Given the description of an element on the screen output the (x, y) to click on. 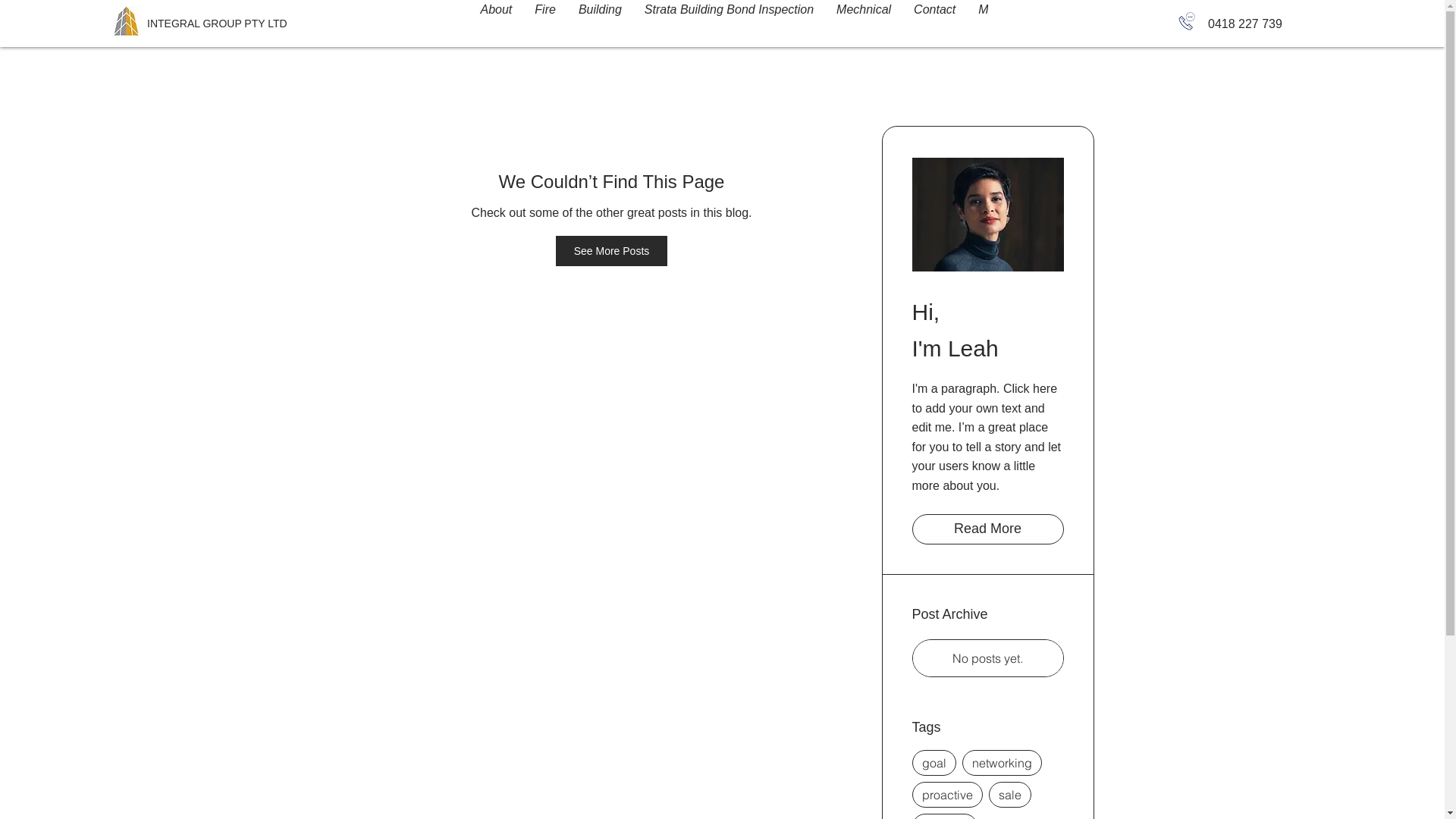
INTEGRAL GROUP PTY LTD Element type: text (217, 23)
Building Element type: text (600, 20)
sale Element type: text (1009, 794)
proactive Element type: text (946, 794)
networking Element type: text (1001, 762)
Fire Element type: text (545, 20)
Contact Element type: text (934, 20)
0418 227 739 Element type: text (1245, 23)
About Element type: text (495, 20)
See More Posts Element type: text (611, 250)
Mechnical Element type: text (863, 20)
Read More Element type: text (987, 529)
goal Element type: text (933, 762)
Strata Building Bond Inspection Element type: text (729, 20)
